Given the description of an element on the screen output the (x, y) to click on. 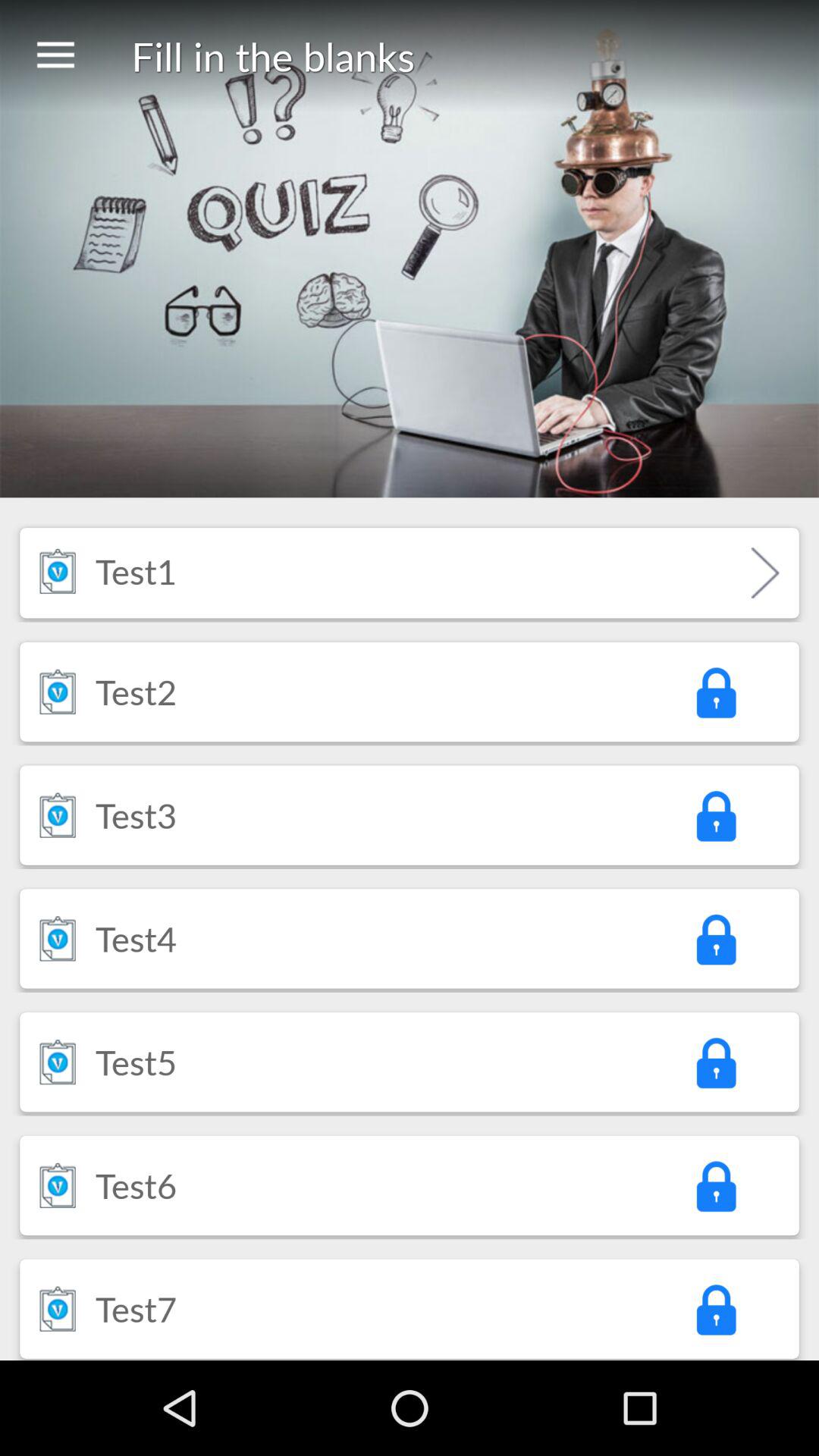
choose item to the left of test1 (57, 570)
